Given the description of an element on the screen output the (x, y) to click on. 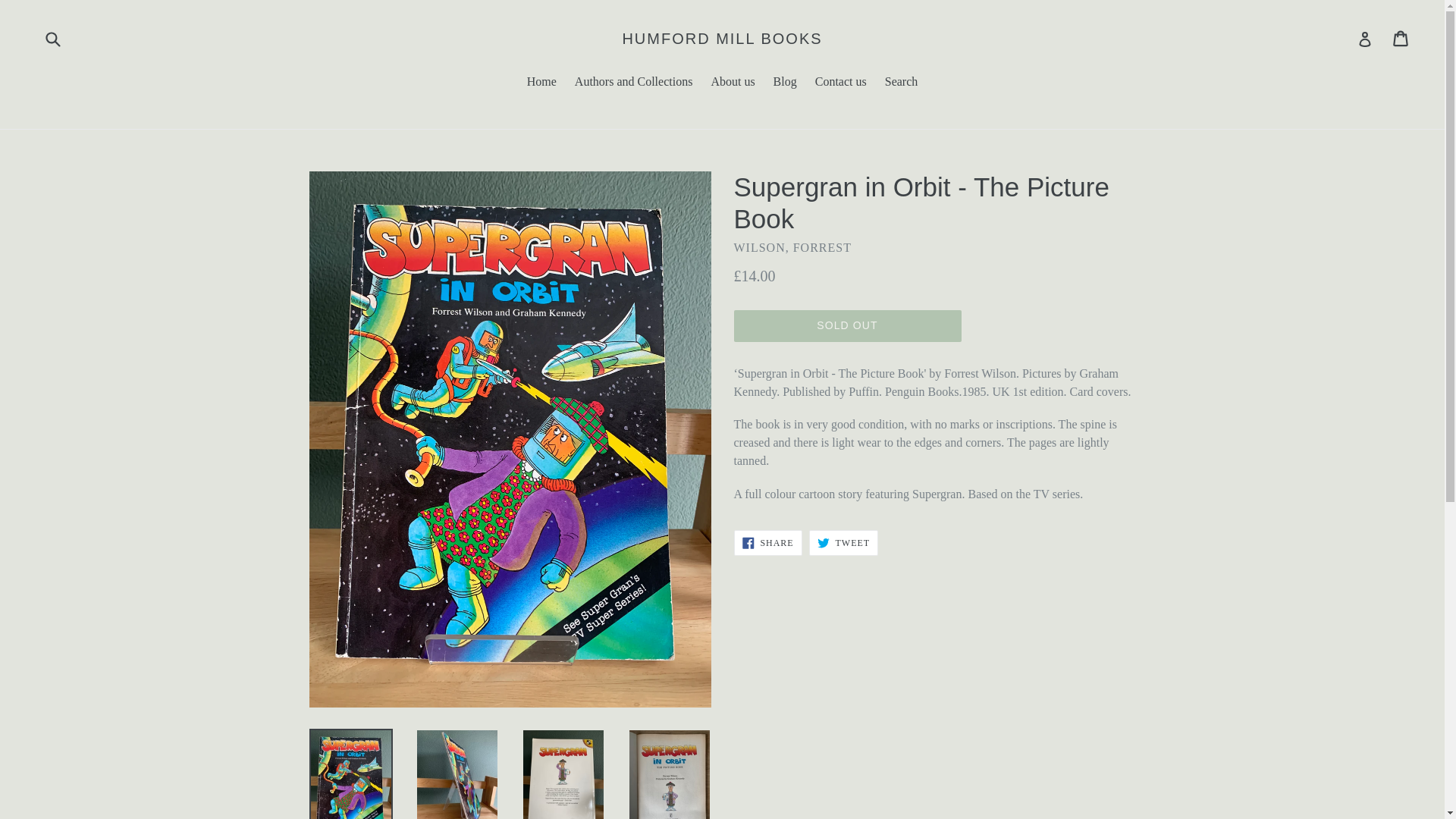
About us (732, 82)
HUMFORD MILL BOOKS (843, 542)
Contact us (721, 38)
Blog (841, 82)
SOLD OUT (785, 82)
Home (846, 326)
Tweet on Twitter (767, 542)
Share on Facebook (541, 82)
